Given the description of an element on the screen output the (x, y) to click on. 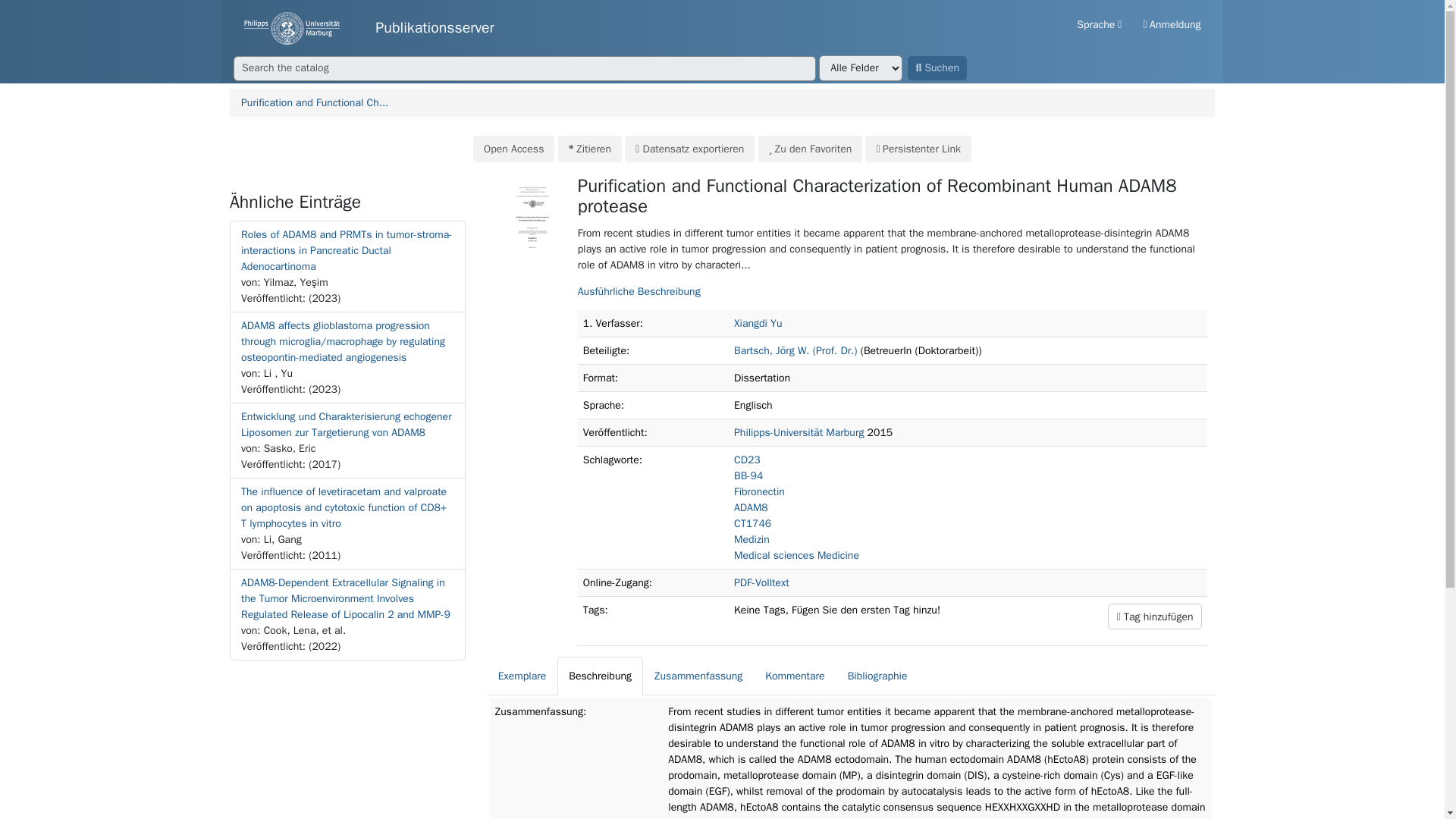
Publikationsserver (368, 28)
BB-94 (747, 475)
Medical sciences Medicine (796, 554)
ADAM8 (750, 507)
Fibronectin (758, 491)
Medizin (751, 539)
CD23 (746, 459)
Sprache (1098, 24)
CT1746 (752, 522)
